Given the description of an element on the screen output the (x, y) to click on. 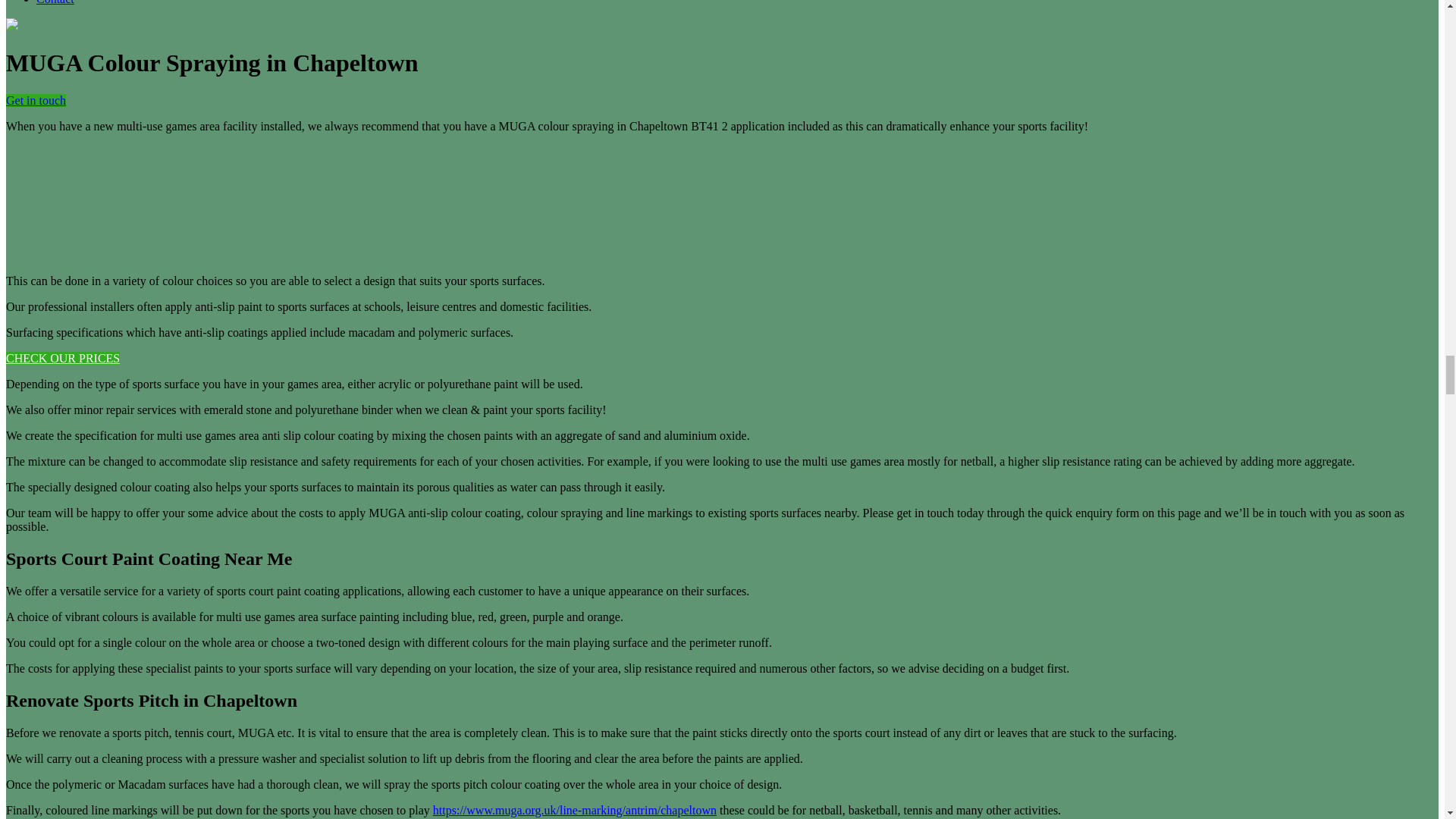
Contact (55, 2)
CHECK OUR PRICES (62, 358)
Get in touch (35, 100)
